Given the description of an element on the screen output the (x, y) to click on. 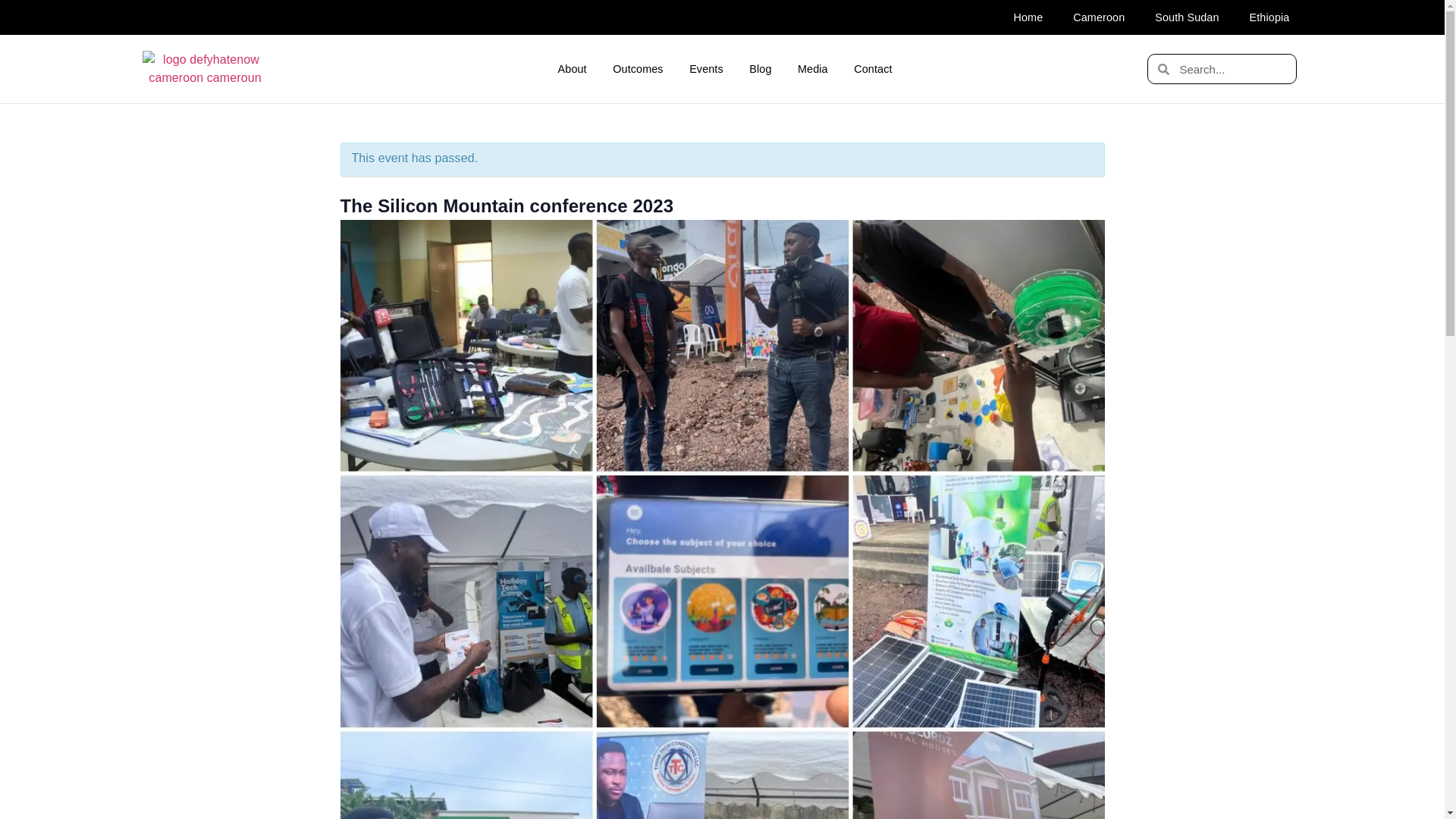
Cameroon (1099, 17)
Events (706, 68)
South Sudan (1186, 17)
About (571, 68)
Contact (873, 68)
Media (812, 68)
Home (1027, 17)
Outcomes (638, 68)
Ethiopia (1269, 17)
logo defyhatenow cameroon cameroun (204, 68)
Blog (760, 68)
